Given the description of an element on the screen output the (x, y) to click on. 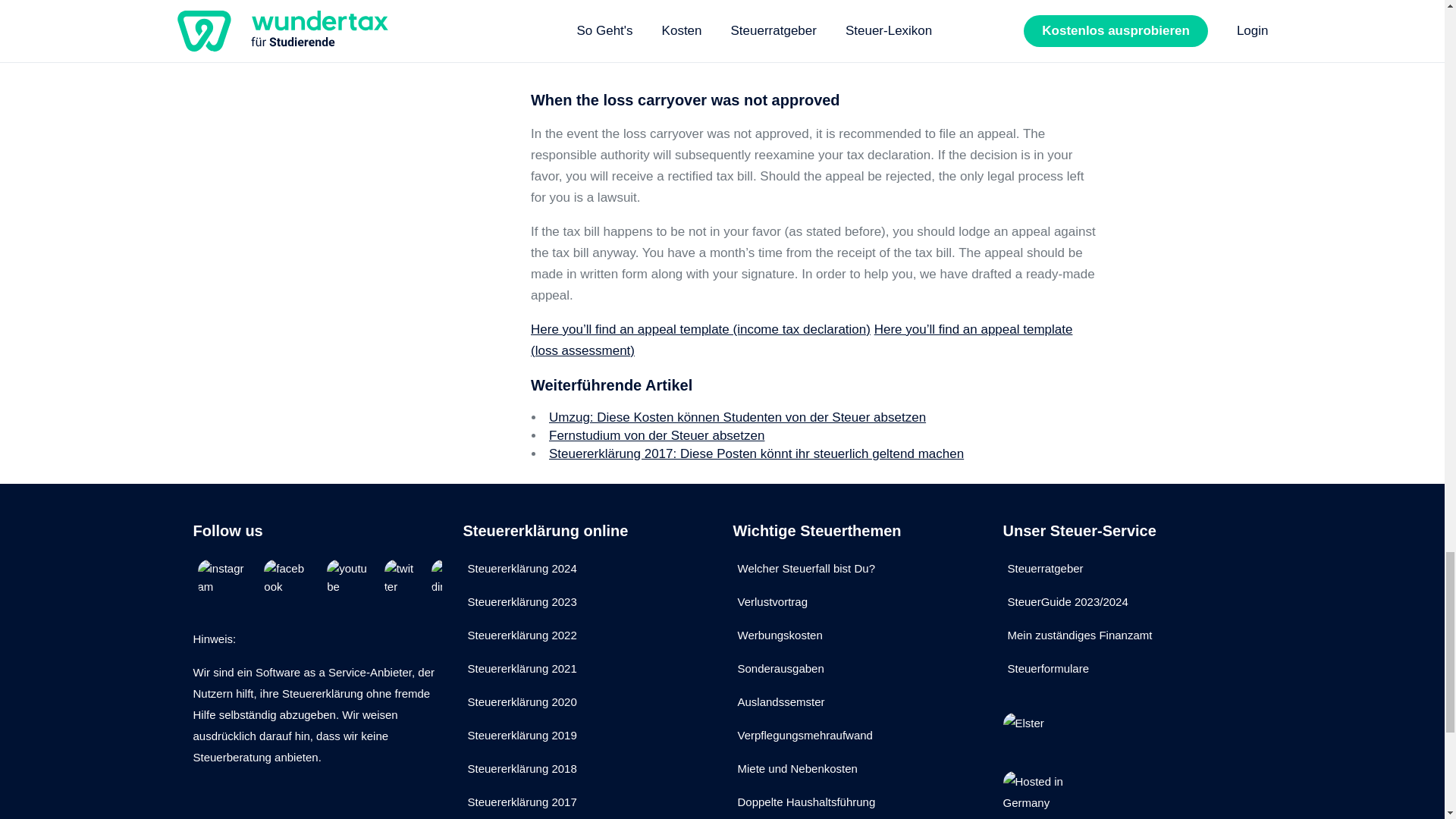
Elster Online (1037, 732)
Hosted in Germany (1037, 795)
picture (555, 52)
Fernstudium von der Steuer absetzen (656, 435)
